Given the description of an element on the screen output the (x, y) to click on. 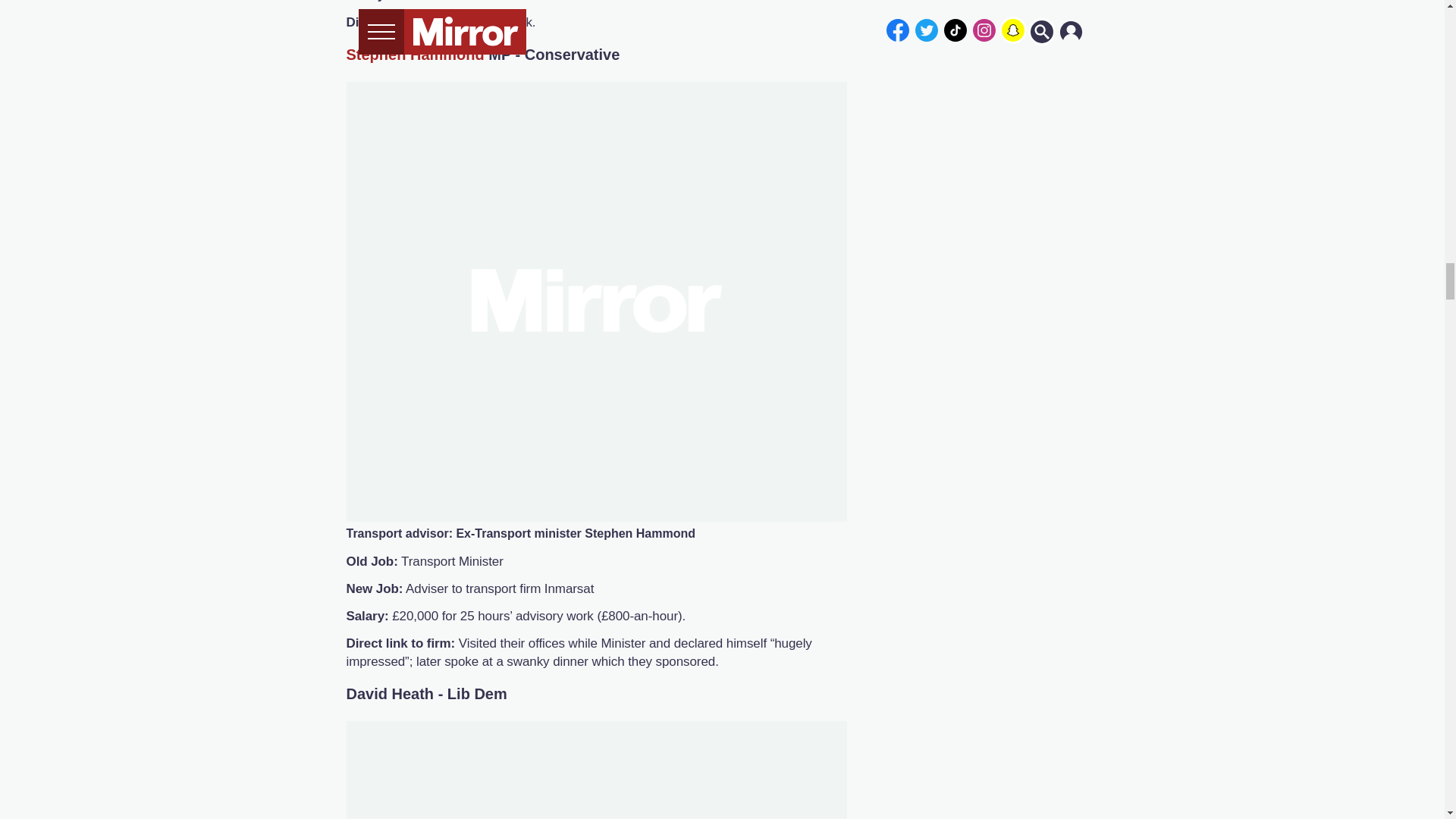
Stephen Hammond (414, 54)
